Given the description of an element on the screen output the (x, y) to click on. 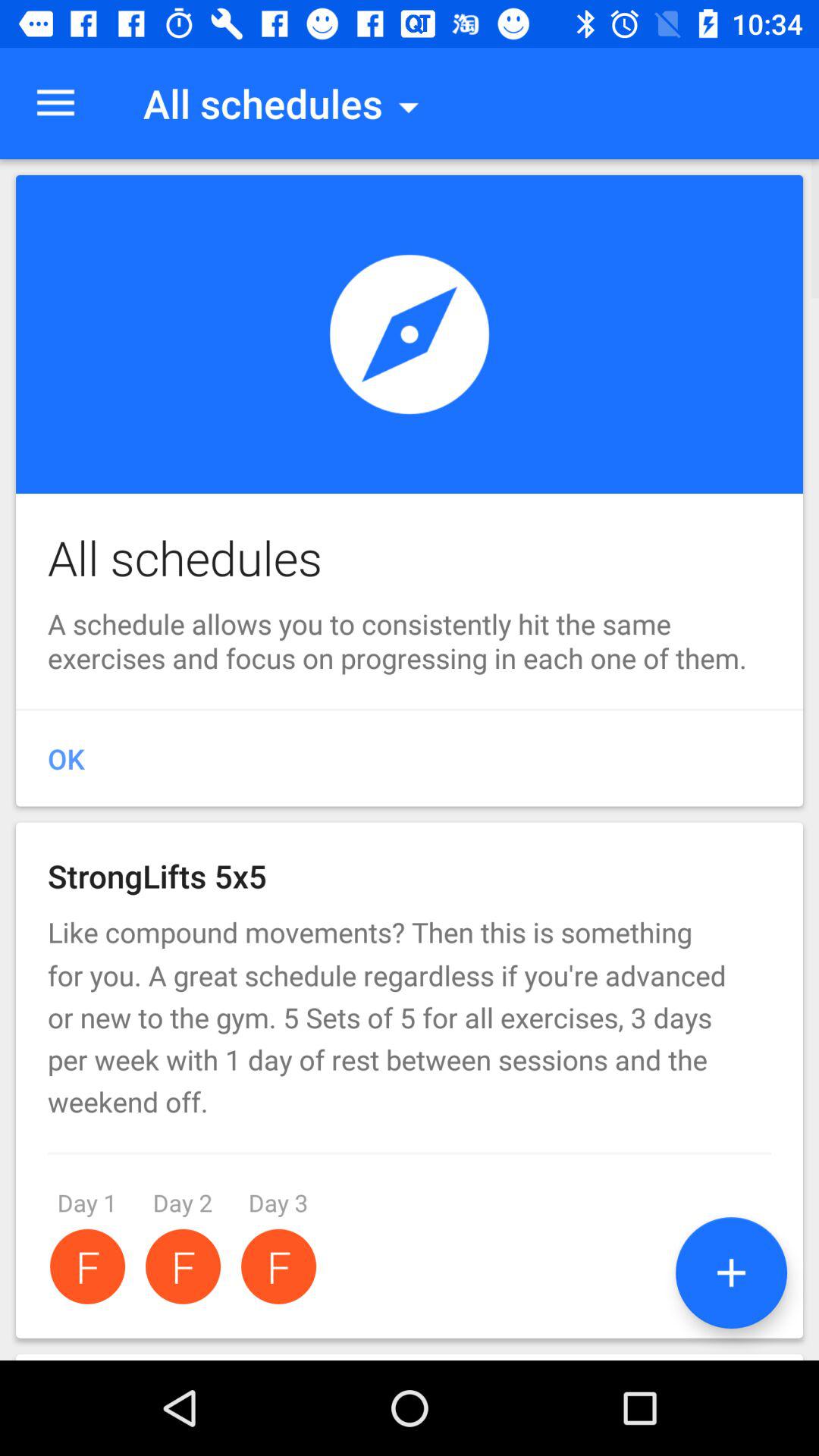
click on the ok button (409, 758)
select the first item below the menu button from top (409, 490)
click on blue button at bottom right (731, 1273)
